Given the description of an element on the screen output the (x, y) to click on. 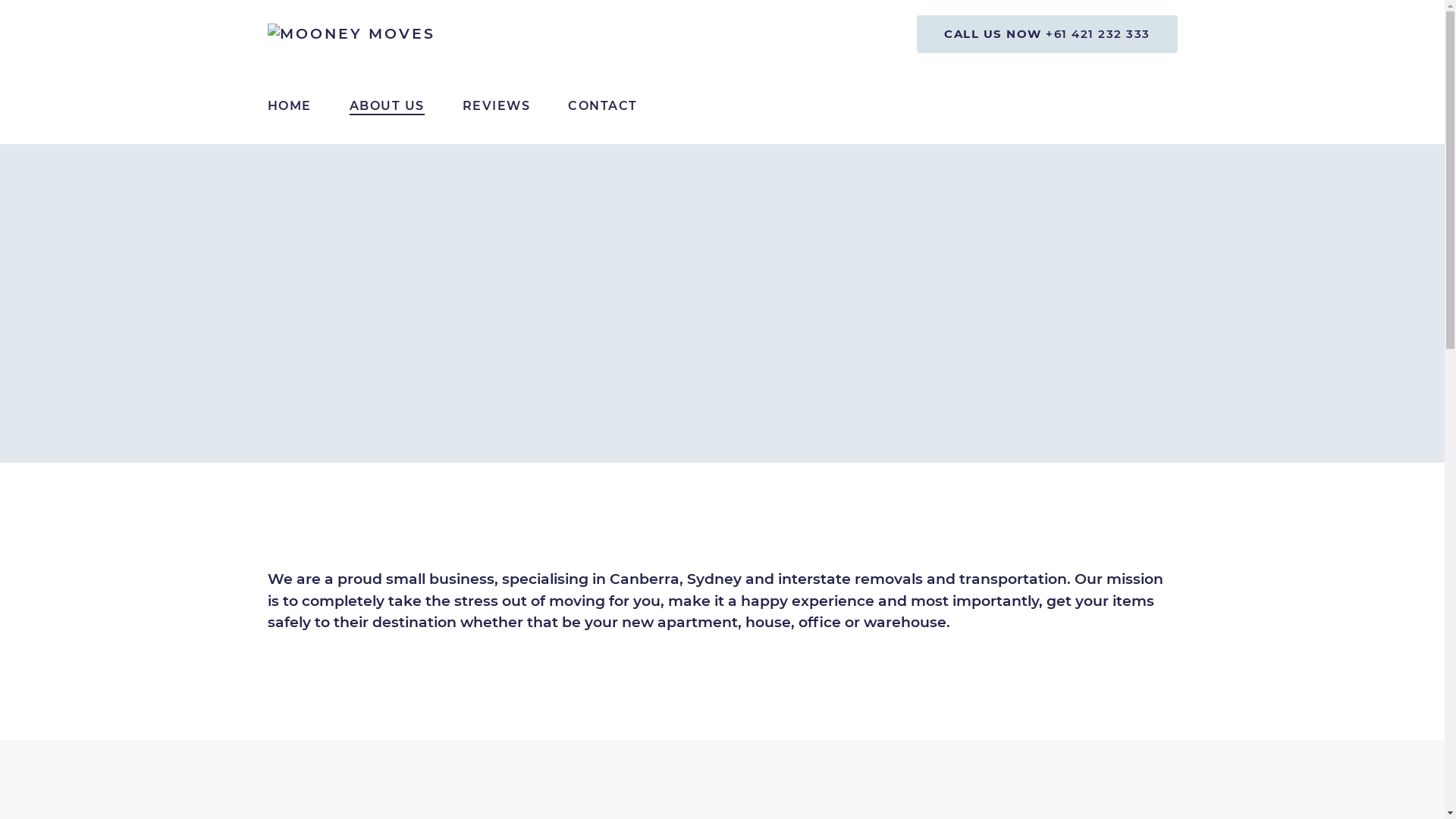
REVIEWS Element type: text (495, 106)
HOME Element type: text (289, 106)
CONTACT Element type: text (602, 106)
CALL US NOW +61 421 232 333 Element type: text (1046, 34)
ABOUT US Element type: text (386, 106)
